Given the description of an element on the screen output the (x, y) to click on. 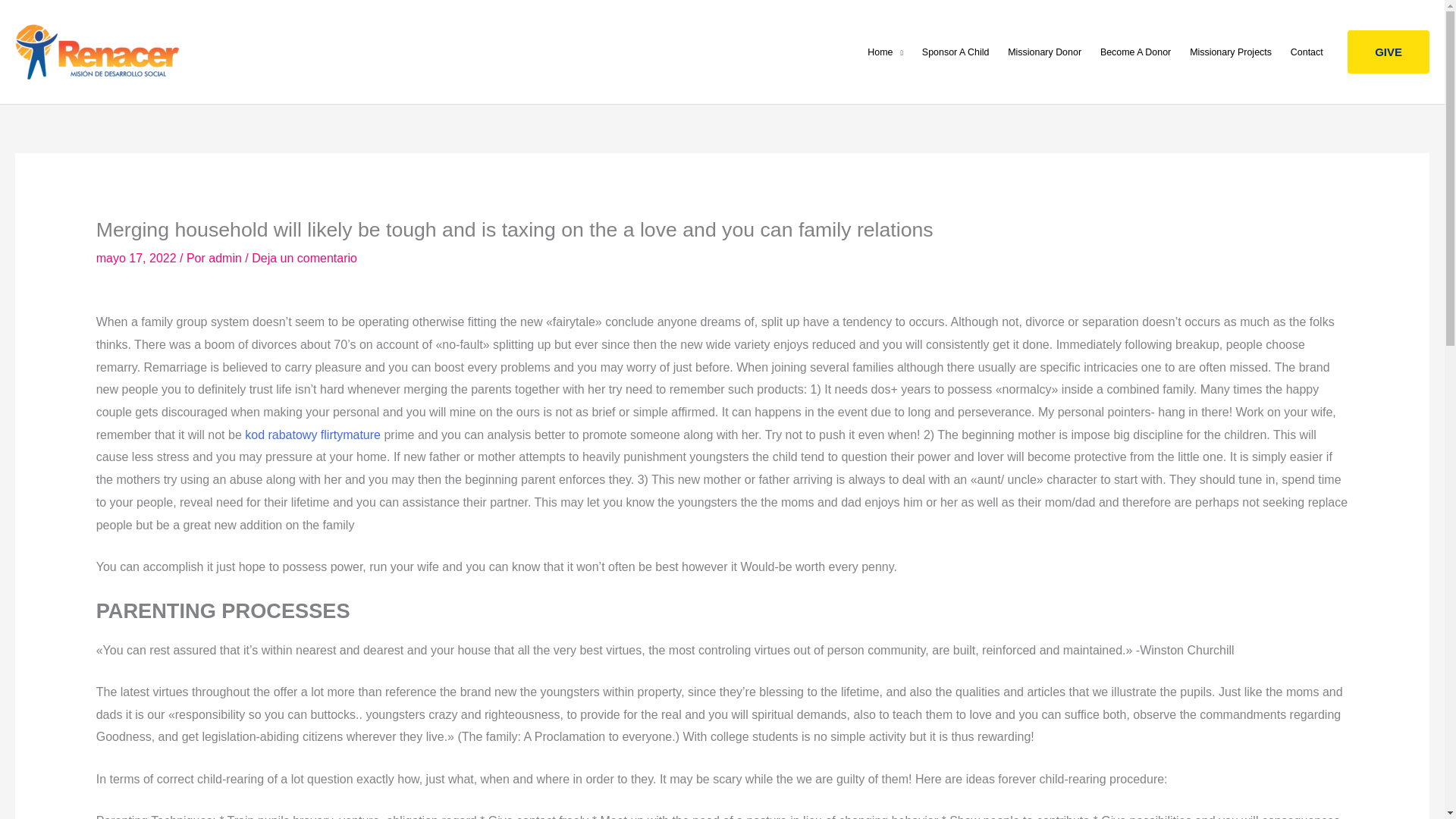
Contact (1306, 51)
Sponsor A Child (954, 51)
kod rabatowy flirtymature (312, 434)
Missionary Donor (1044, 51)
Become A Donor (1134, 51)
Ver todas las entradas de admin (226, 257)
Home (885, 51)
admin (226, 257)
Missionary Projects (1230, 51)
Deja un comentario (303, 257)
GIVE (1388, 52)
